Given the description of an element on the screen output the (x, y) to click on. 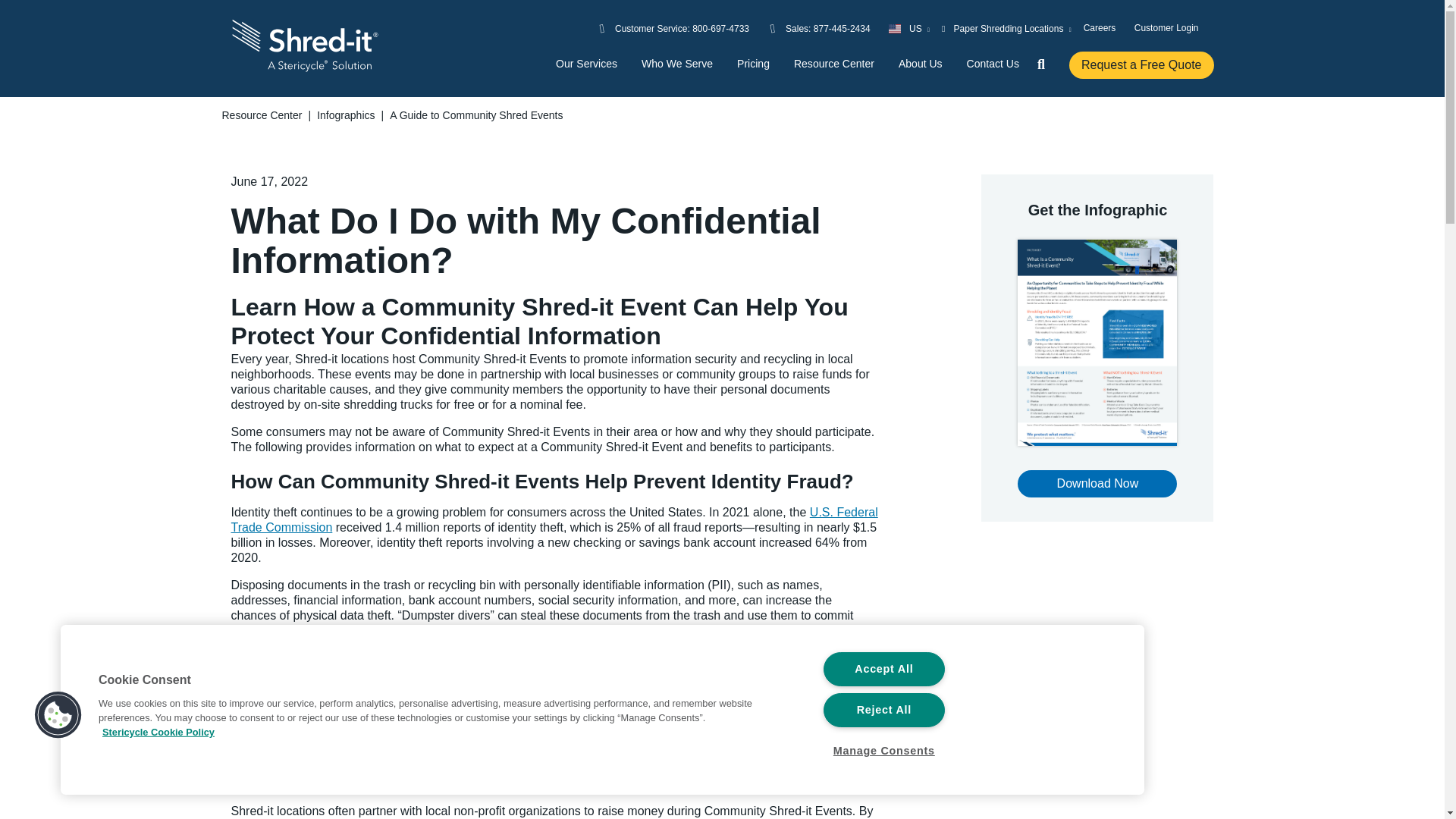
Our Services (586, 63)
Who We Serve (677, 63)
US (909, 28)
Customer Login (1166, 27)
Careers (1099, 27)
Customer Service: 800-697-4733 (681, 28)
Paper Shredding Locations (1006, 28)
Sales: 877-445-2434 (828, 28)
Cookies Button (57, 715)
